Given the description of an element on the screen output the (x, y) to click on. 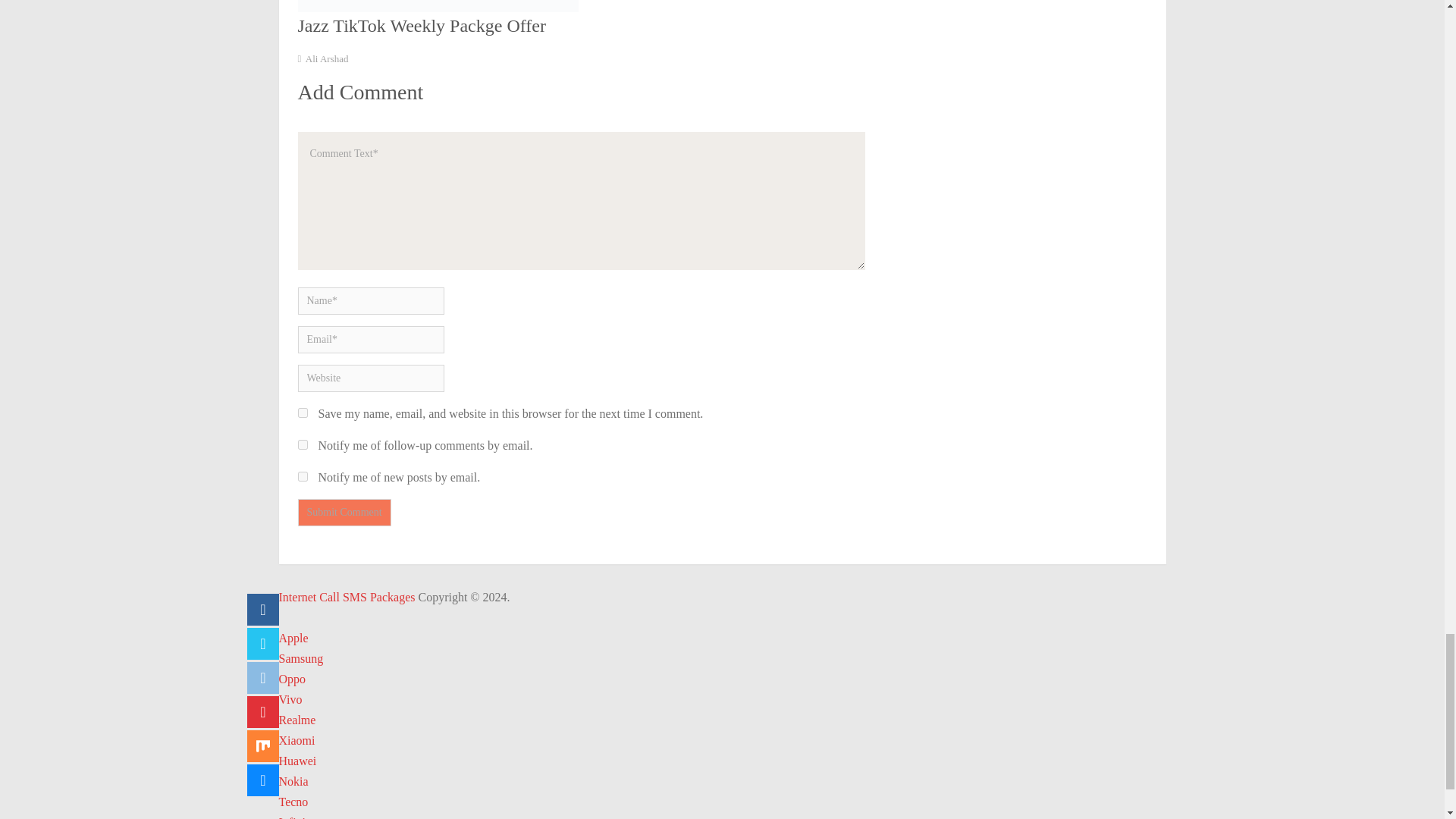
Submit Comment (343, 512)
subscribe (302, 444)
subscribe (302, 476)
yes (302, 412)
